Given the description of an element on the screen output the (x, y) to click on. 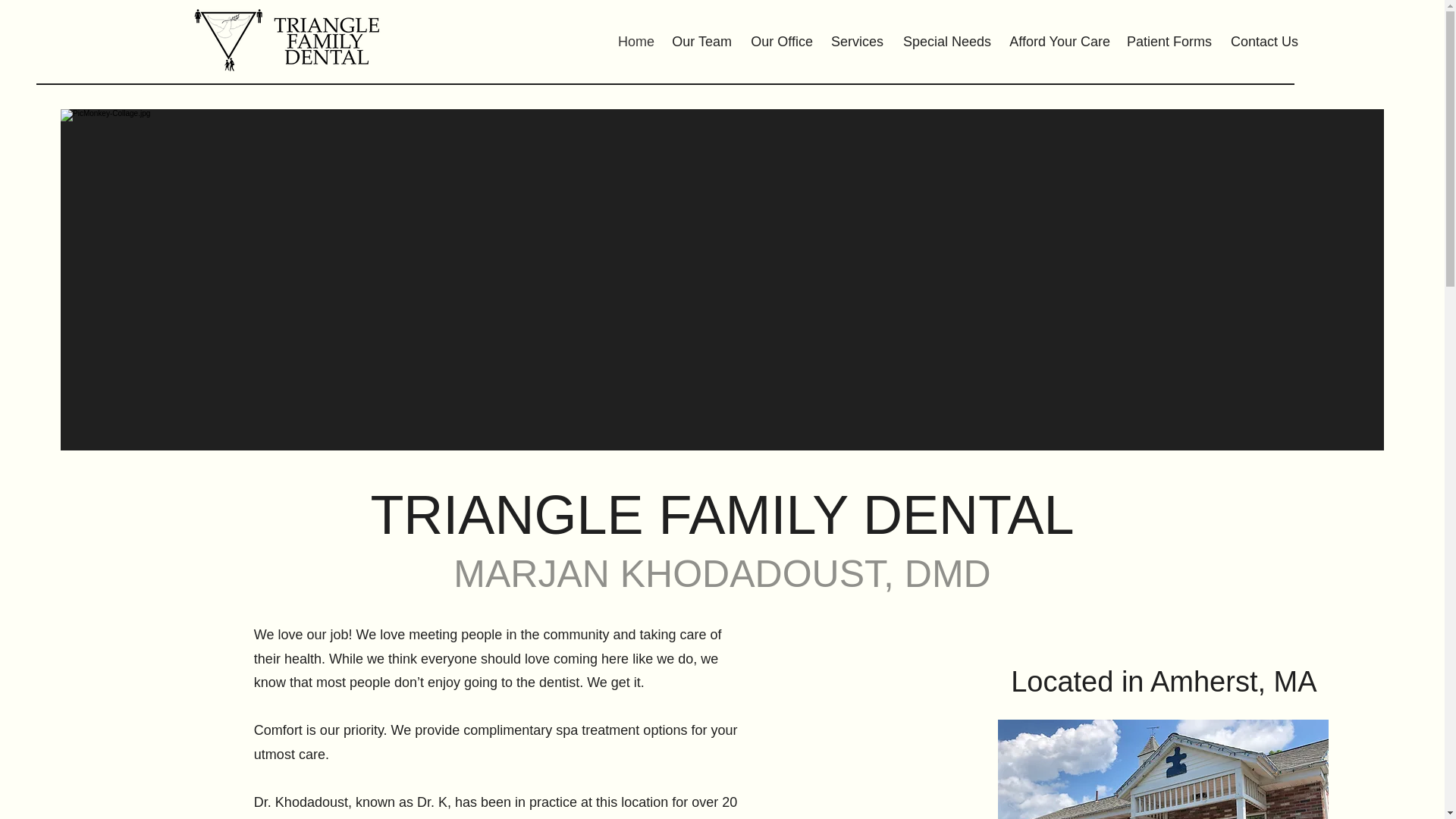
Our Team (700, 40)
Patient Forms (1169, 40)
Home (634, 40)
Special Needs (944, 40)
Afford Your Care (1058, 40)
Contact Us (1263, 40)
Services (856, 40)
Our Office (780, 40)
